Given the description of an element on the screen output the (x, y) to click on. 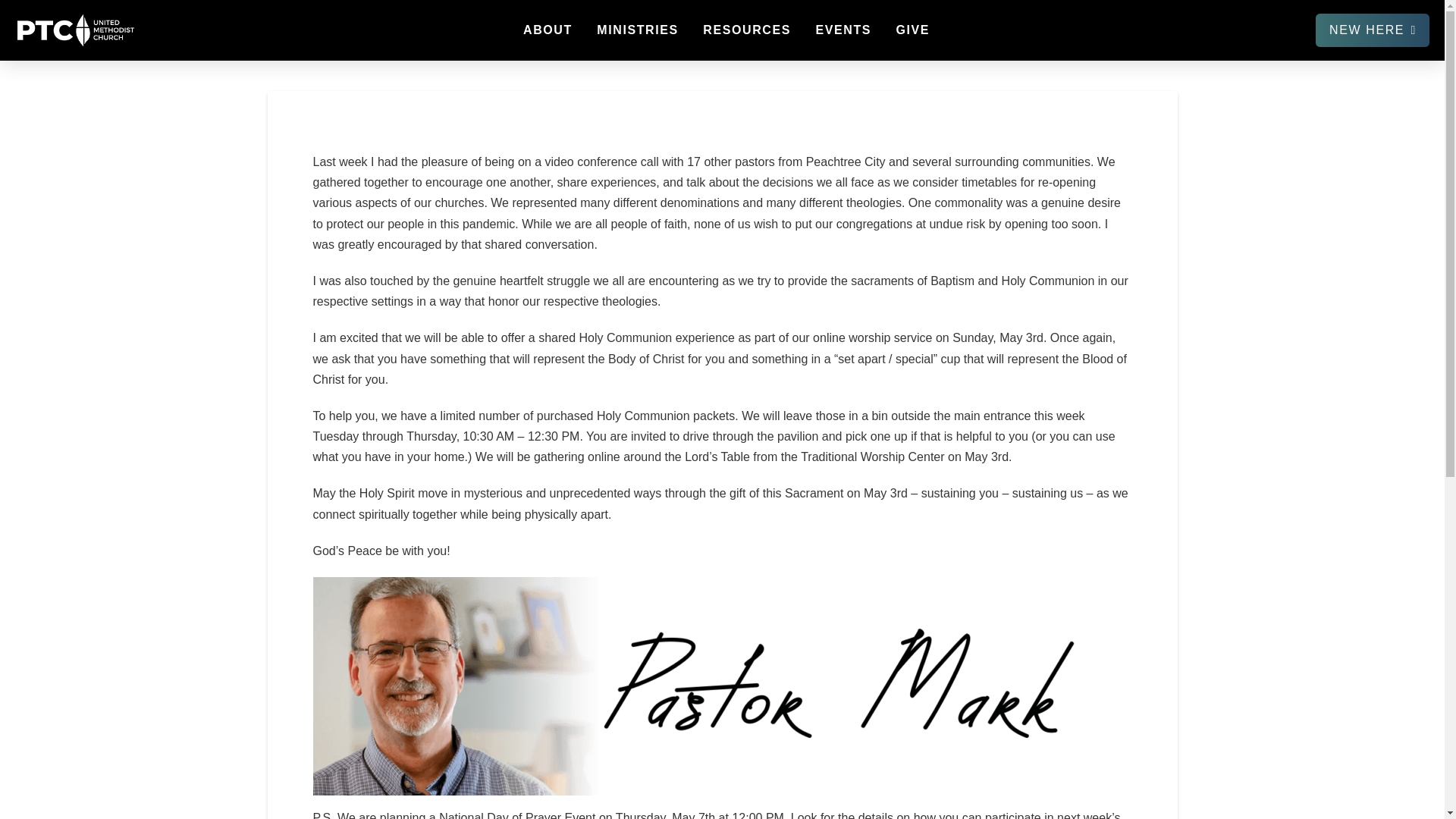
ABOUT (547, 30)
RESOURCES (746, 30)
NEW HERE (1372, 29)
EVENTS (842, 30)
MINISTRIES (636, 30)
GIVE (911, 30)
